Given the description of an element on the screen output the (x, y) to click on. 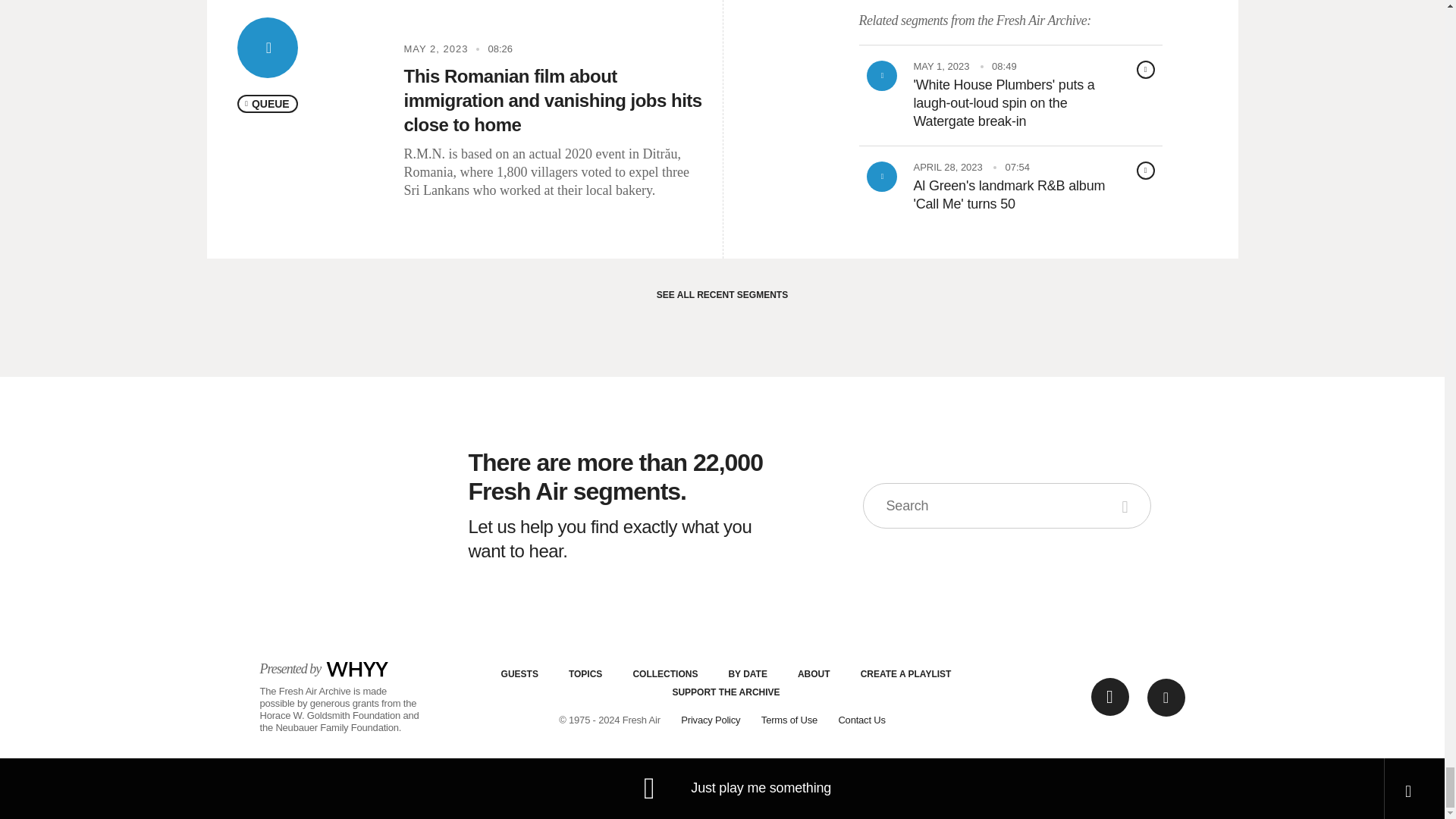
Search (1127, 505)
